Given the description of an element on the screen output the (x, y) to click on. 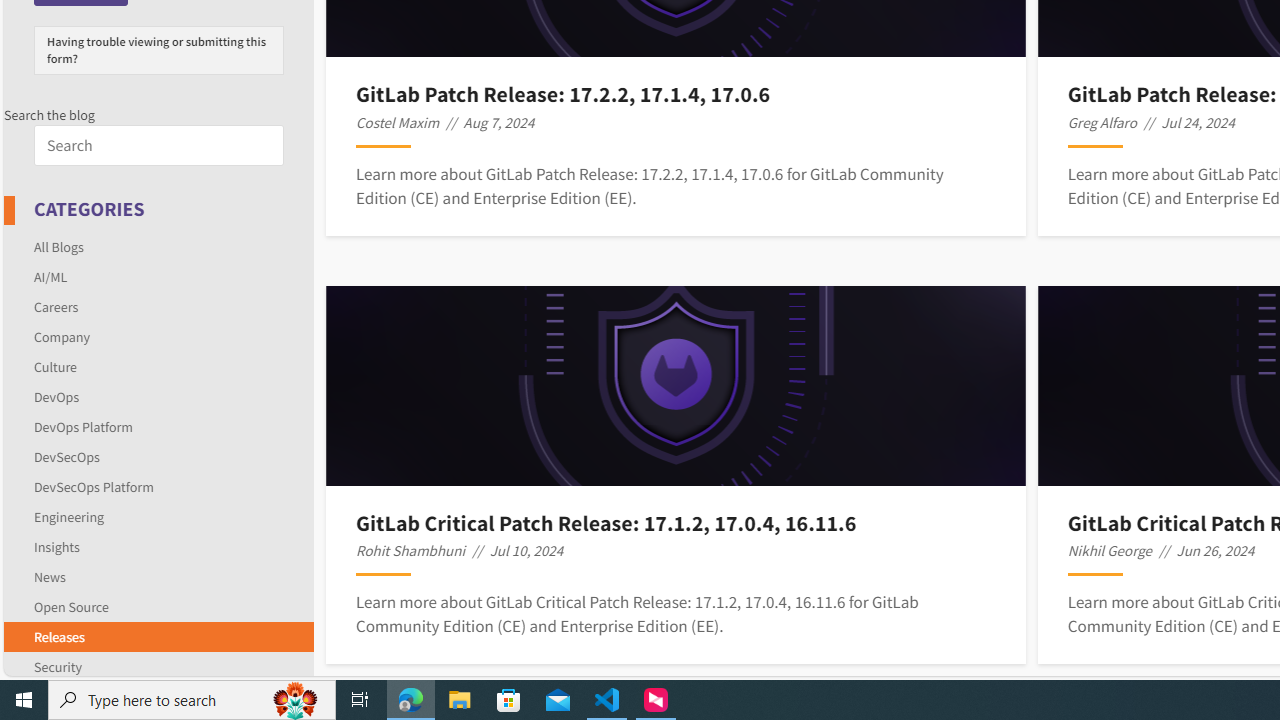
Engineering (158, 516)
Culture (158, 366)
Releases (158, 636)
DevSecOps Platform (93, 486)
GitLab Patch Release: 17.2.2, 17.1.4, 17.0.6 (675, 93)
Costel Maxim (397, 121)
Culture (56, 366)
Rohit Shambhuni (410, 550)
